Given the description of an element on the screen output the (x, y) to click on. 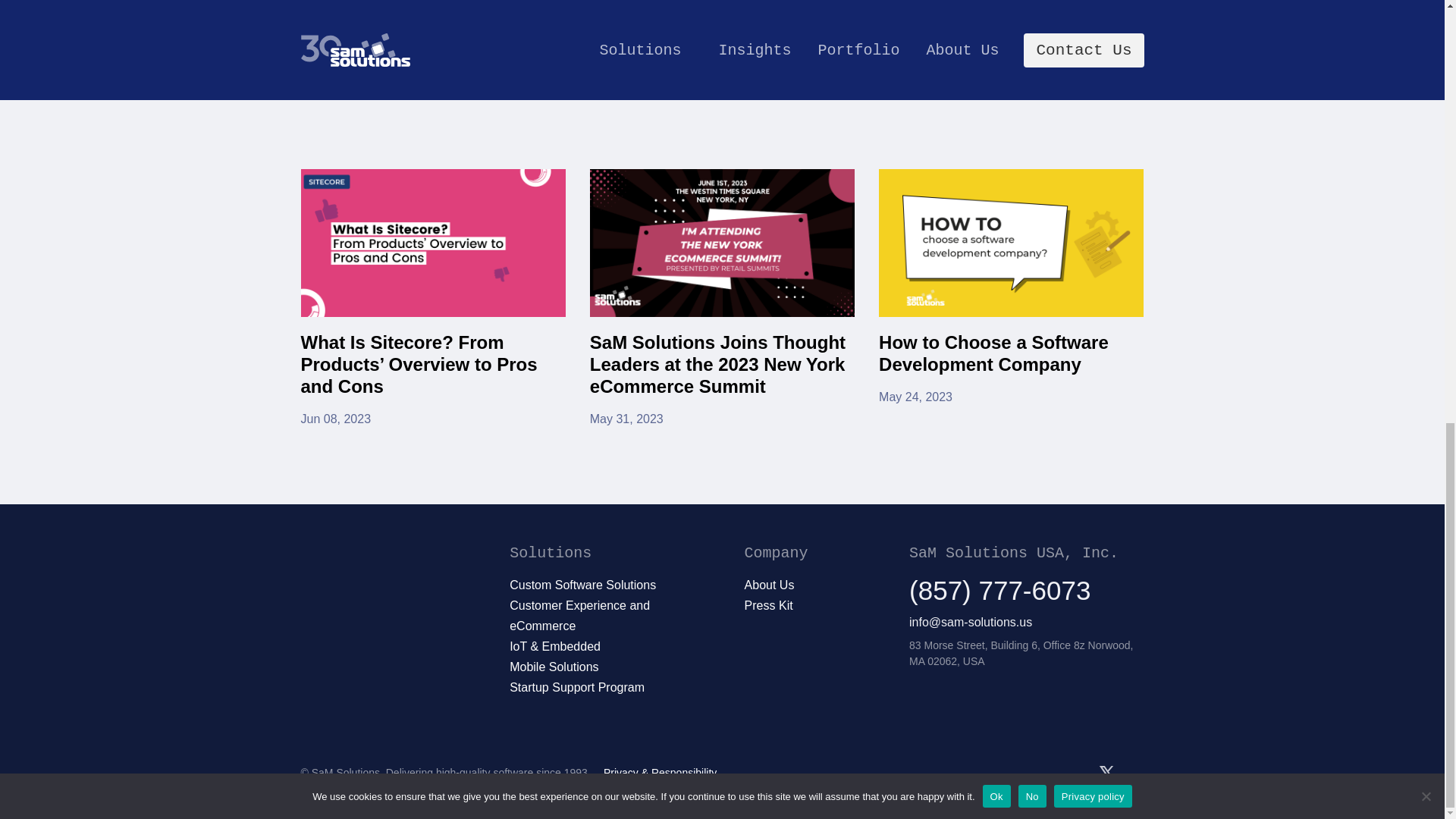
Customer Experience and eCommerce (1010, 298)
Custom Software Solutions (579, 615)
Mobile Solutions (582, 584)
